Given the description of an element on the screen output the (x, y) to click on. 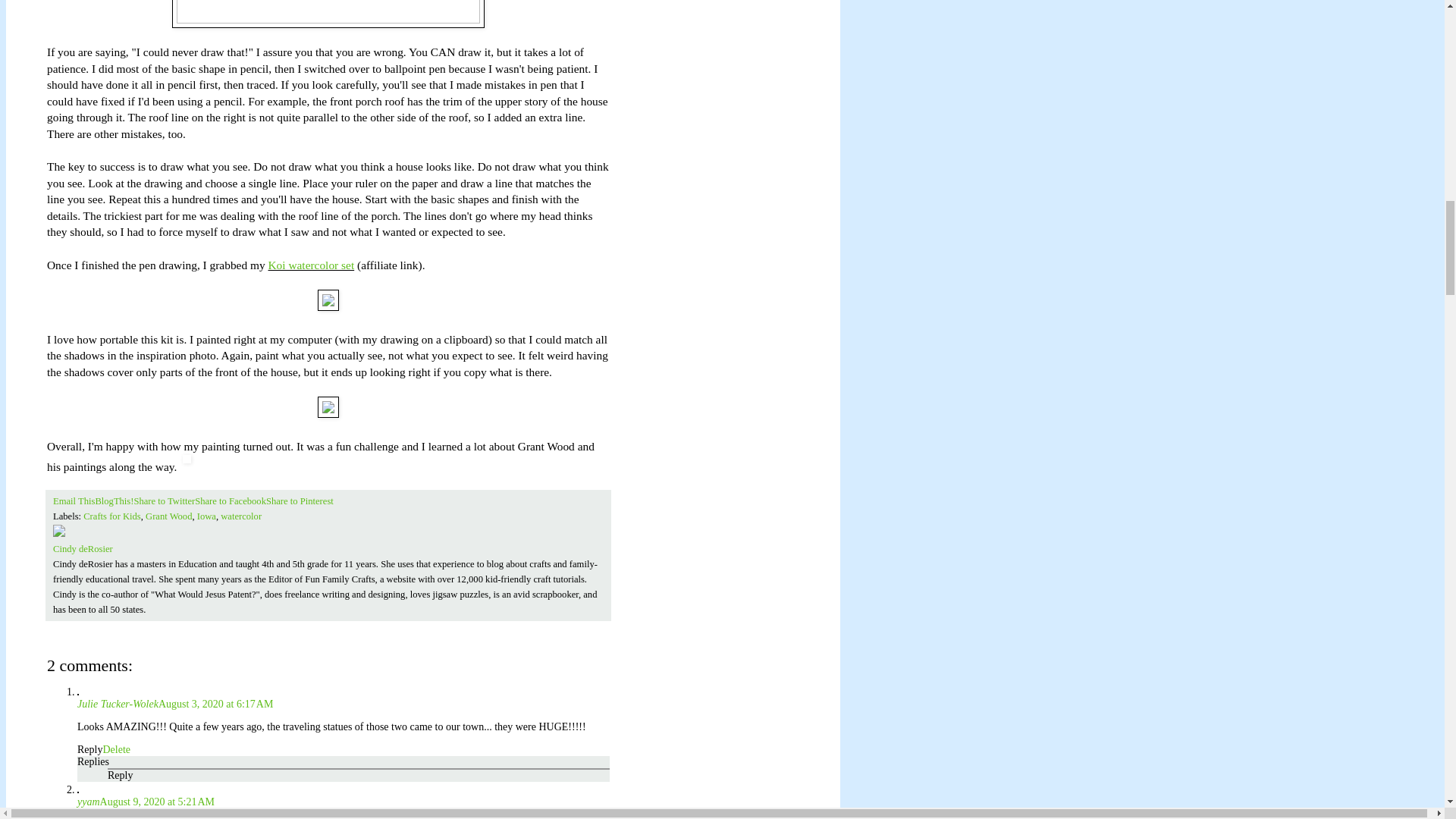
Replies (93, 761)
Julie Tucker-Wolek (117, 704)
Email This (73, 501)
Share to Facebook (230, 501)
BlogThis! (113, 501)
Delete (116, 749)
Reply (119, 775)
Grant Wood (168, 516)
Email This (73, 501)
Share to Pinterest (299, 501)
watercolor (241, 516)
Koi watercolor set (310, 264)
Reply (89, 749)
Crafts for Kids (111, 516)
author profile (82, 548)
